Given the description of an element on the screen output the (x, y) to click on. 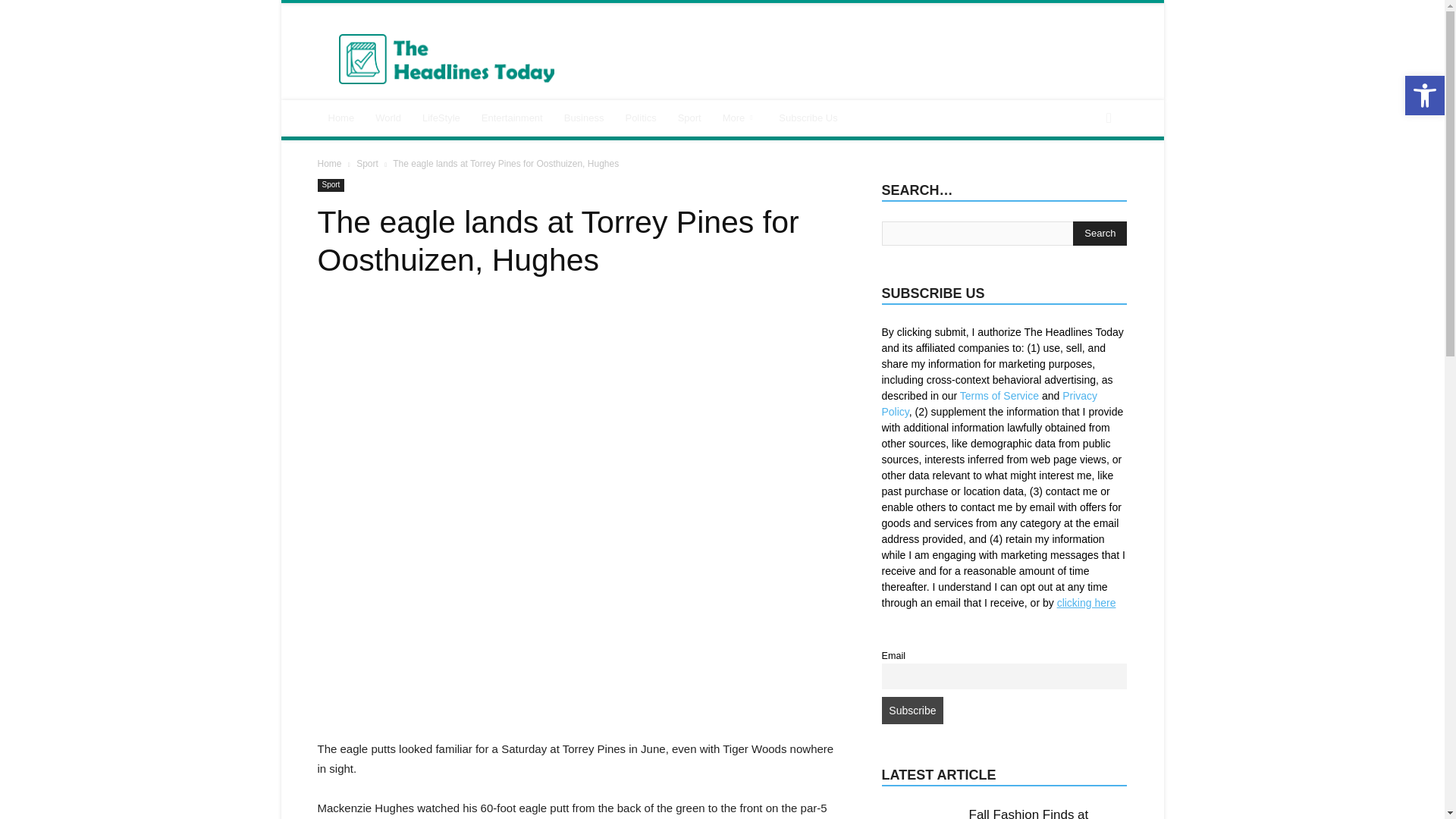
View all posts in Sport (367, 163)
Home (341, 117)
Accessibility Tools (1424, 95)
Search (1099, 233)
World (388, 117)
Subscribe (911, 709)
Business (583, 117)
LifeStyle (441, 117)
Entertainment (511, 117)
